Given the description of an element on the screen output the (x, y) to click on. 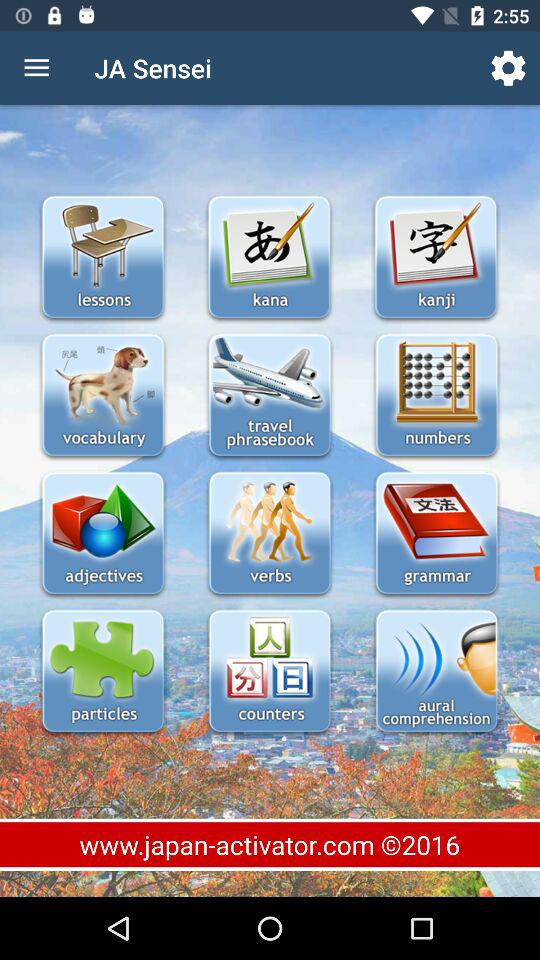
open particles (102, 672)
